Given the description of an element on the screen output the (x, y) to click on. 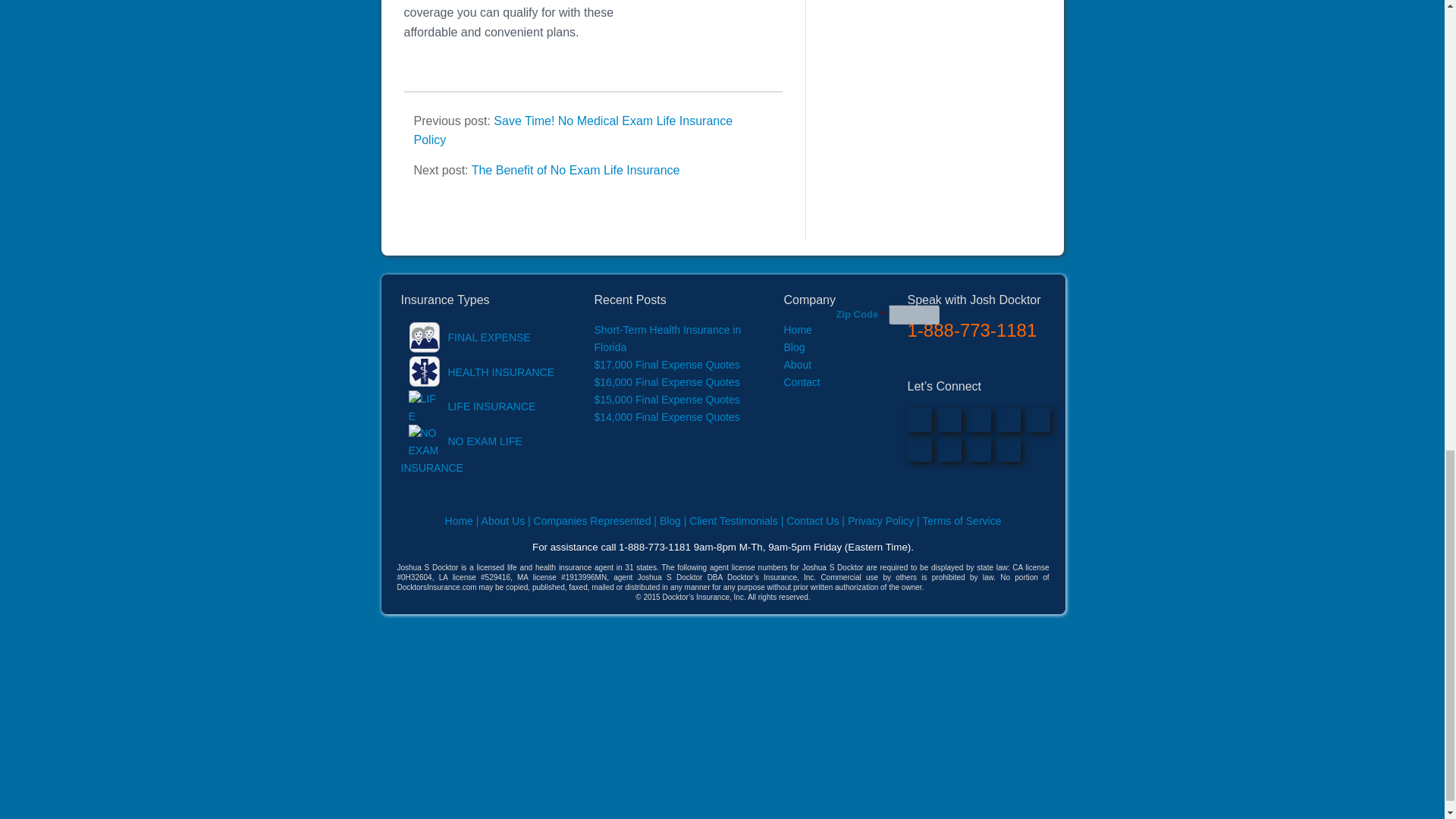
Docktor's Insurance (1007, 449)
FINAL EXPENSE (464, 337)
Home (798, 329)
Short-Term Health Insurance in Florida (667, 337)
Save Time! No Medical Exam Life Insurance Policy (573, 130)
Blog (794, 346)
Share This (948, 449)
no exam life insurance policy (730, 41)
HEALTH INSURANCE (477, 372)
About (798, 364)
NO EXAM LIFE INSURANCE (460, 454)
The Benefit of No Exam Life Insurance (575, 169)
Yelp (919, 449)
LIFE INSURANCE (467, 406)
Add to Favorites (978, 449)
